Given the description of an element on the screen output the (x, y) to click on. 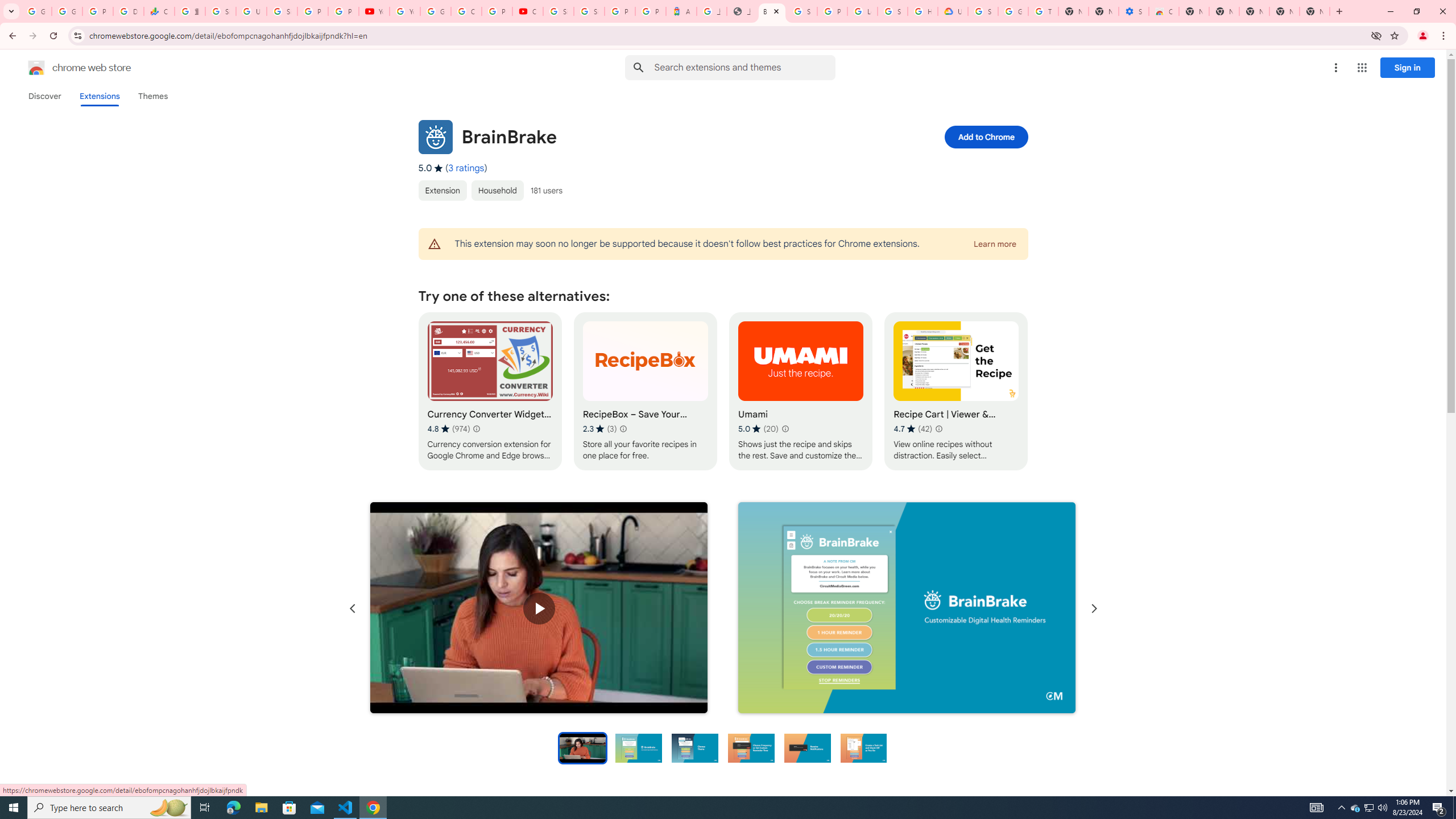
Item media 1 video (538, 608)
Atour Hotel - Google hotels (681, 11)
Household (497, 190)
YouTube (404, 11)
Sign in - Google Accounts (982, 11)
Preview slide 4 (751, 747)
Currency Converter Widget - Exchange Rates (489, 391)
More options menu (1335, 67)
Create your Google Account (465, 11)
